Given the description of an element on the screen output the (x, y) to click on. 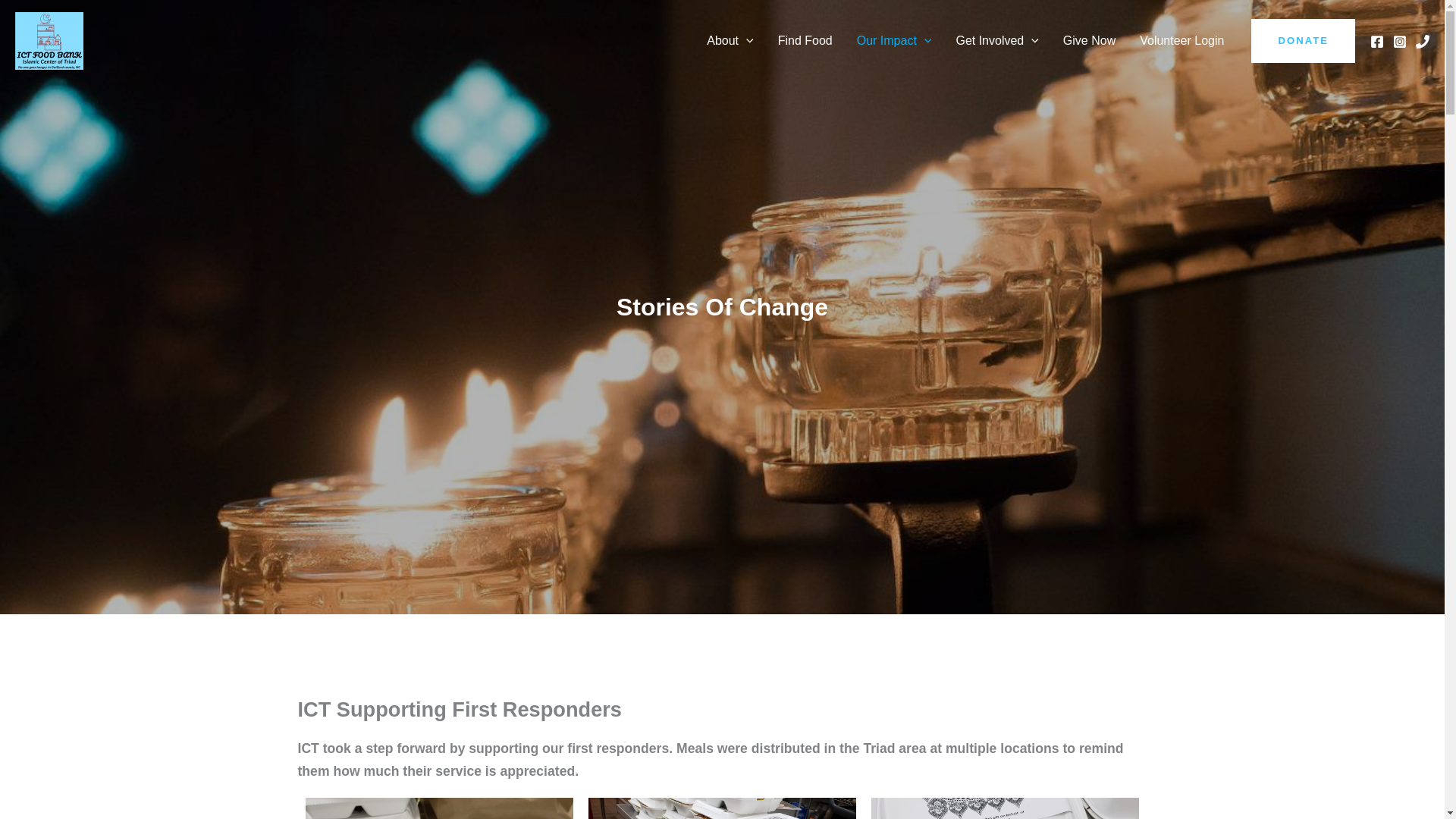
Get Involved (996, 40)
Give Now (1088, 40)
Our Impact (893, 40)
Volunteer Login (1181, 40)
Find Food (804, 40)
DONATE (1302, 40)
About (729, 40)
